Given the description of an element on the screen output the (x, y) to click on. 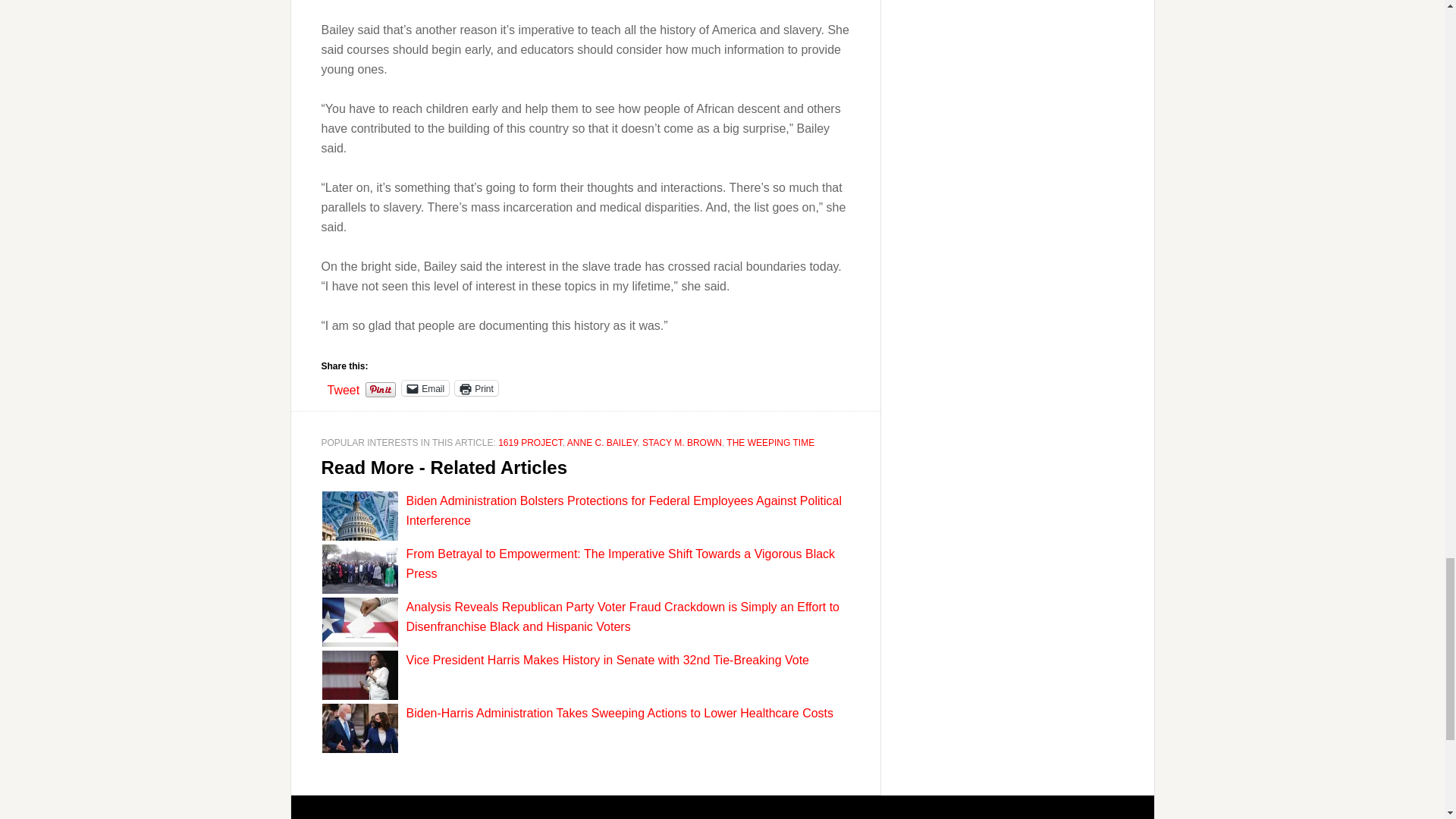
Print (475, 387)
Click to print (475, 387)
THE WEEPING TIME (769, 442)
Click to email a link to a friend (424, 387)
1619 PROJECT (529, 442)
STACY M. BROWN (682, 442)
Email (424, 387)
ANNE C. BAILEY (602, 442)
Tweet (343, 386)
